Given the description of an element on the screen output the (x, y) to click on. 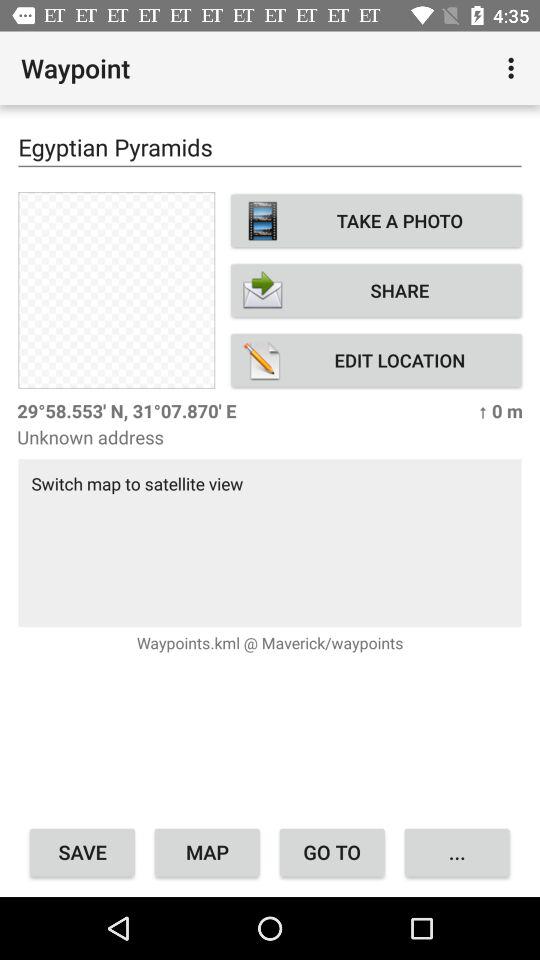
scroll until share item (375, 290)
